Given the description of an element on the screen output the (x, y) to click on. 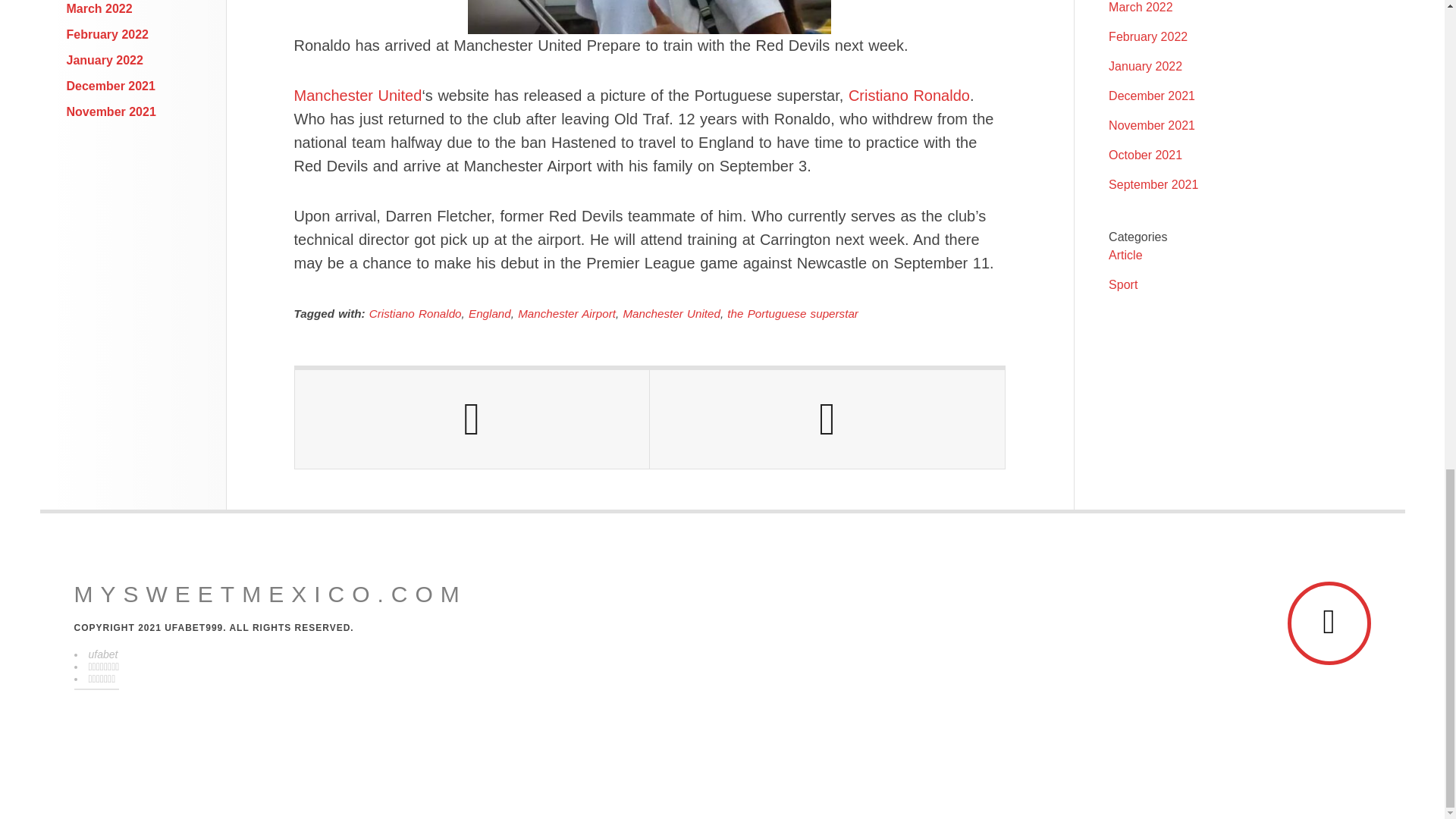
November 2021 (110, 111)
December 2021 (110, 85)
the Portuguese superstar (792, 313)
Previous Post (471, 419)
February 2022 (107, 33)
Manchester United (671, 313)
Manchester United (358, 95)
March 2022 (99, 8)
Manchester Airport (566, 313)
January 2022 (104, 60)
Next Post (826, 419)
Cristiano Ronaldo (908, 95)
Cristiano Ronaldo (415, 313)
mysweetmexico.com (270, 594)
England (489, 313)
